Given the description of an element on the screen output the (x, y) to click on. 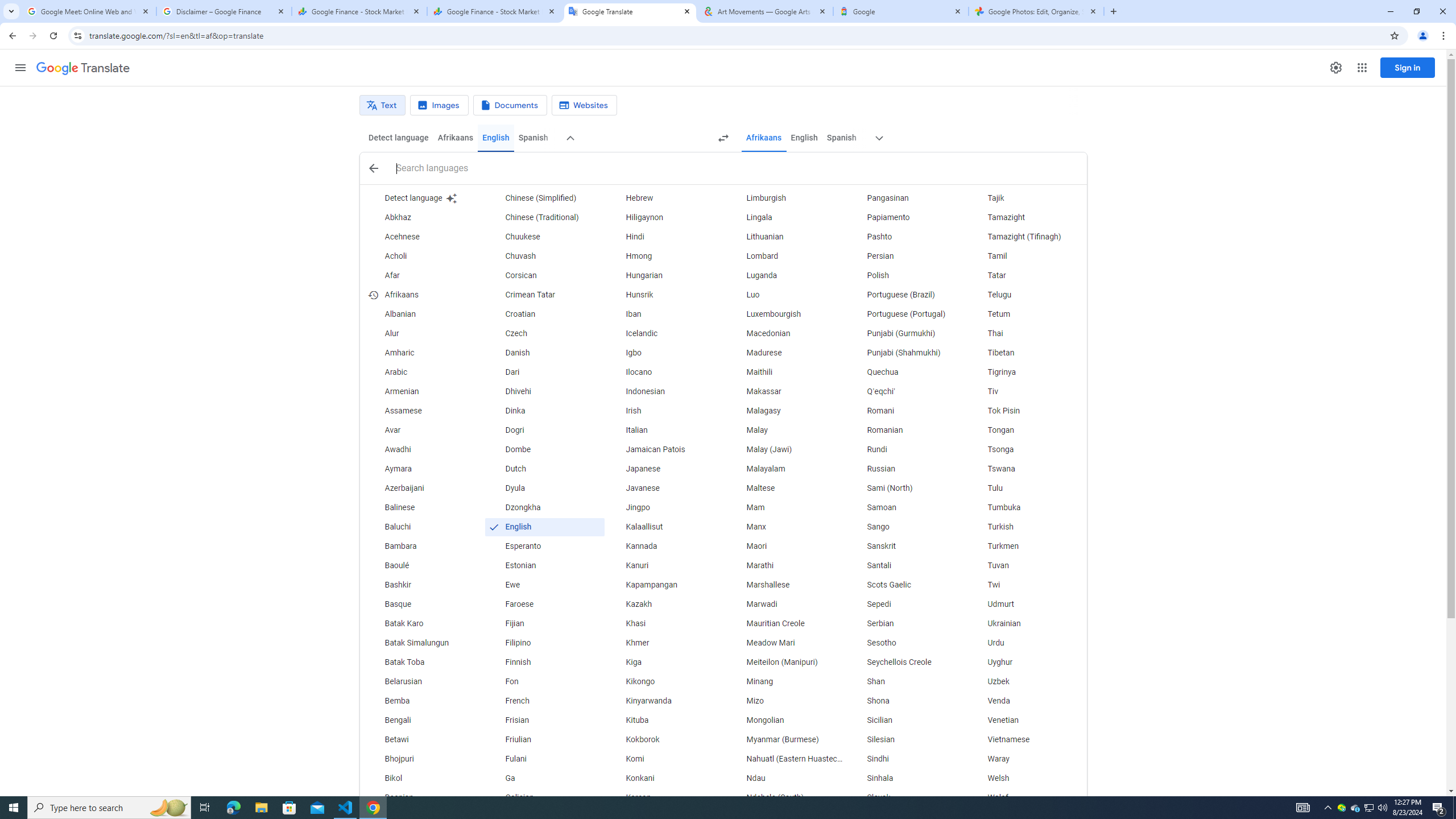
Urdu (1026, 642)
Balinese (423, 507)
Welsh (1026, 778)
Esperanto (544, 546)
Manx (785, 527)
Tongan (1026, 430)
Bashkir (423, 584)
Nahuatl (Eastern Huasteca) (785, 759)
Rundi (905, 449)
Komi (665, 759)
Frisian (544, 720)
Croatian (544, 314)
Dzongkha (544, 507)
Amharic (423, 352)
Telugu (1026, 294)
